Given the description of an element on the screen output the (x, y) to click on. 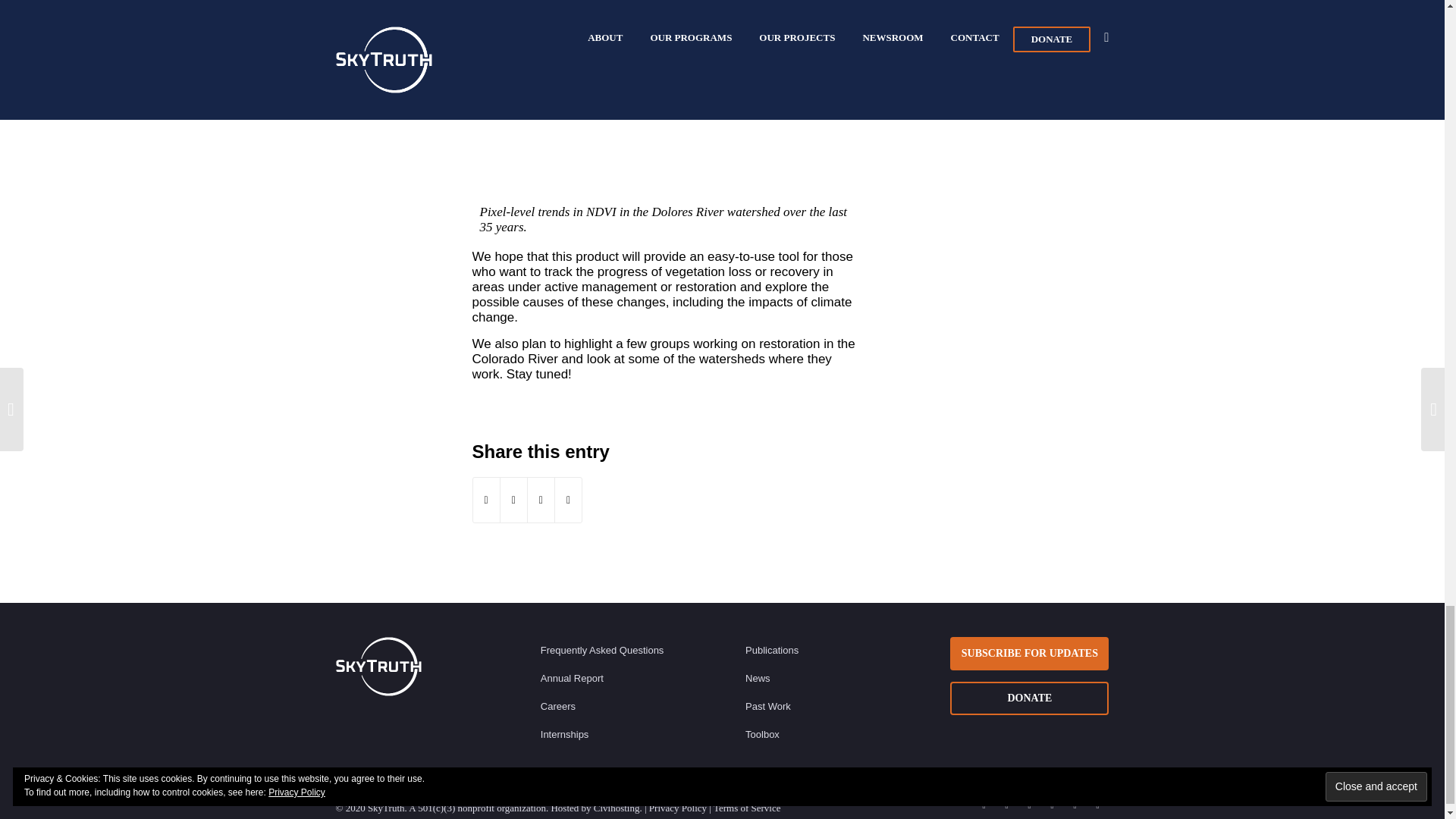
Facebook (1005, 804)
Instagram (1029, 804)
X (983, 804)
